Given the description of an element on the screen output the (x, y) to click on. 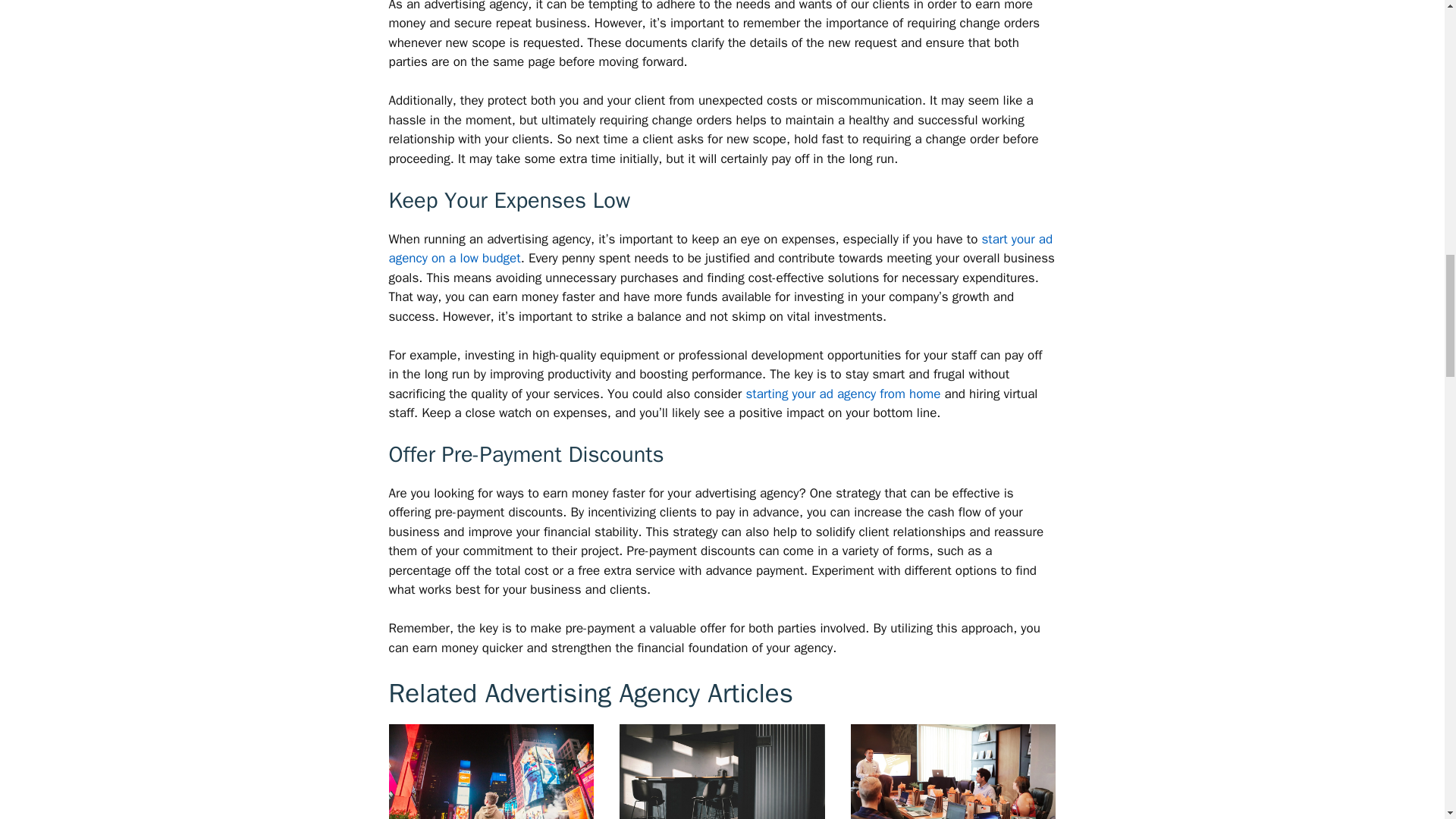
starting your ad agency from home (842, 393)
start your ad agency on a low budget (720, 248)
